Given the description of an element on the screen output the (x, y) to click on. 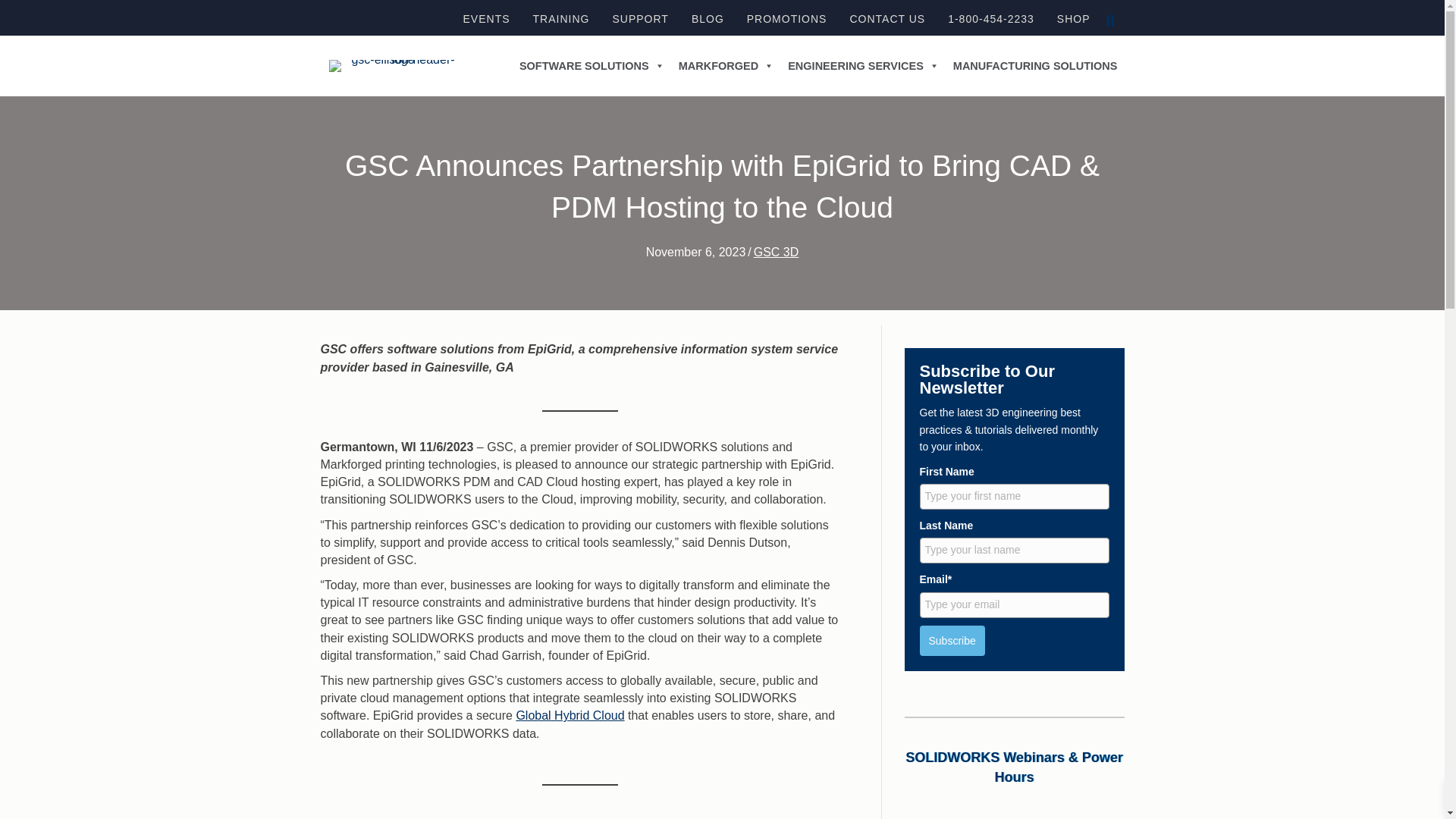
CONTACT US (887, 18)
BLOG (708, 18)
SOFTWARE SOLUTIONS (591, 65)
Support (639, 18)
Events (486, 18)
Training (560, 18)
TRAINING (560, 18)
SUPPORT (639, 18)
Contact Us (887, 18)
Promotions (786, 18)
EVENTS (486, 18)
PROMOTIONS (786, 18)
SHOP (1073, 18)
Blog (708, 18)
1-800-454-2233 (991, 18)
